Given the description of an element on the screen output the (x, y) to click on. 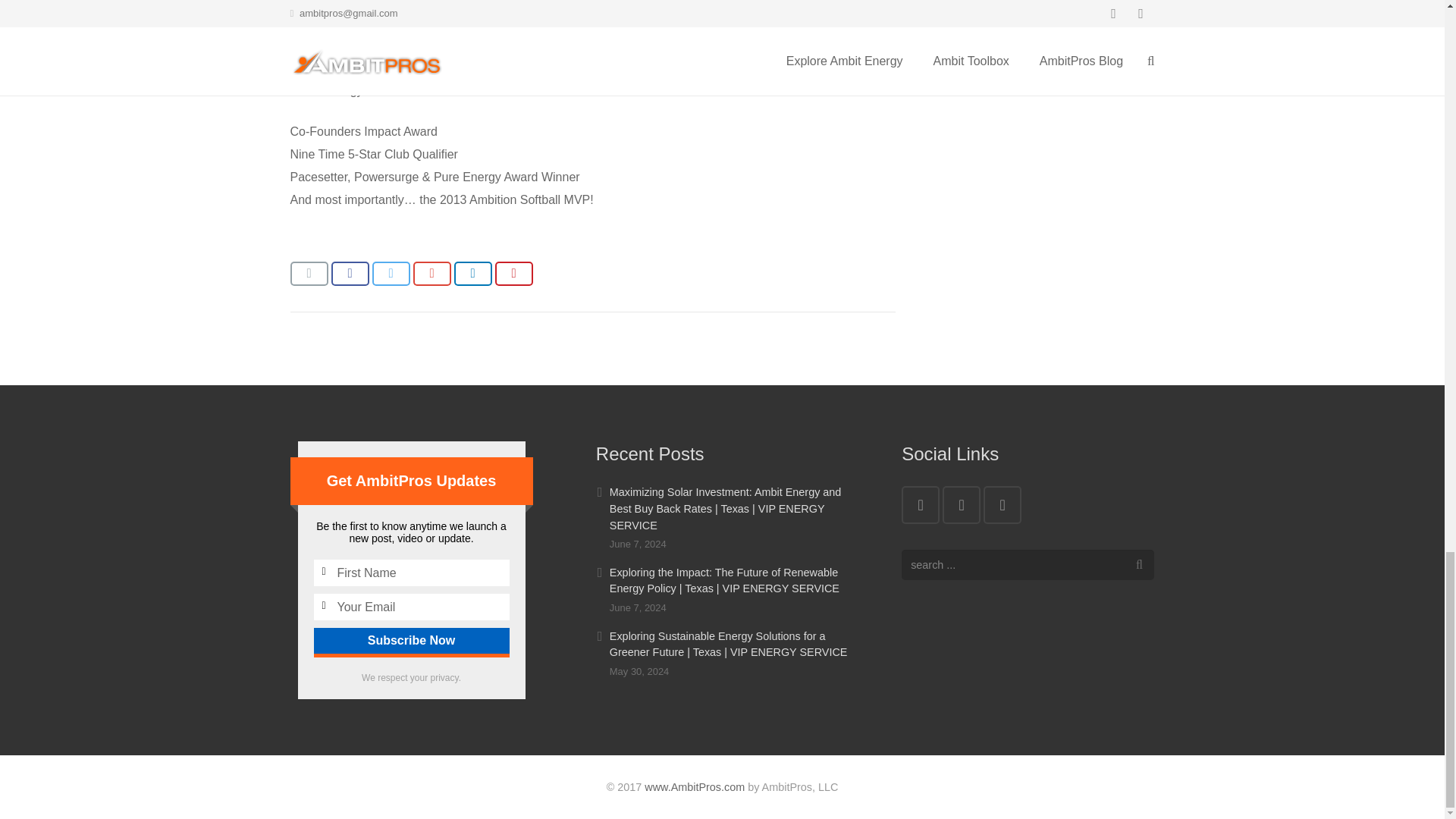
Tweet this (390, 273)
Shawn Cornett Ambit Energy Signature (400, 10)
Pin this (513, 273)
Share this (472, 273)
Email this (308, 273)
Share this (349, 273)
Share this (430, 273)
Subscribe Now (411, 640)
